Given the description of an element on the screen output the (x, y) to click on. 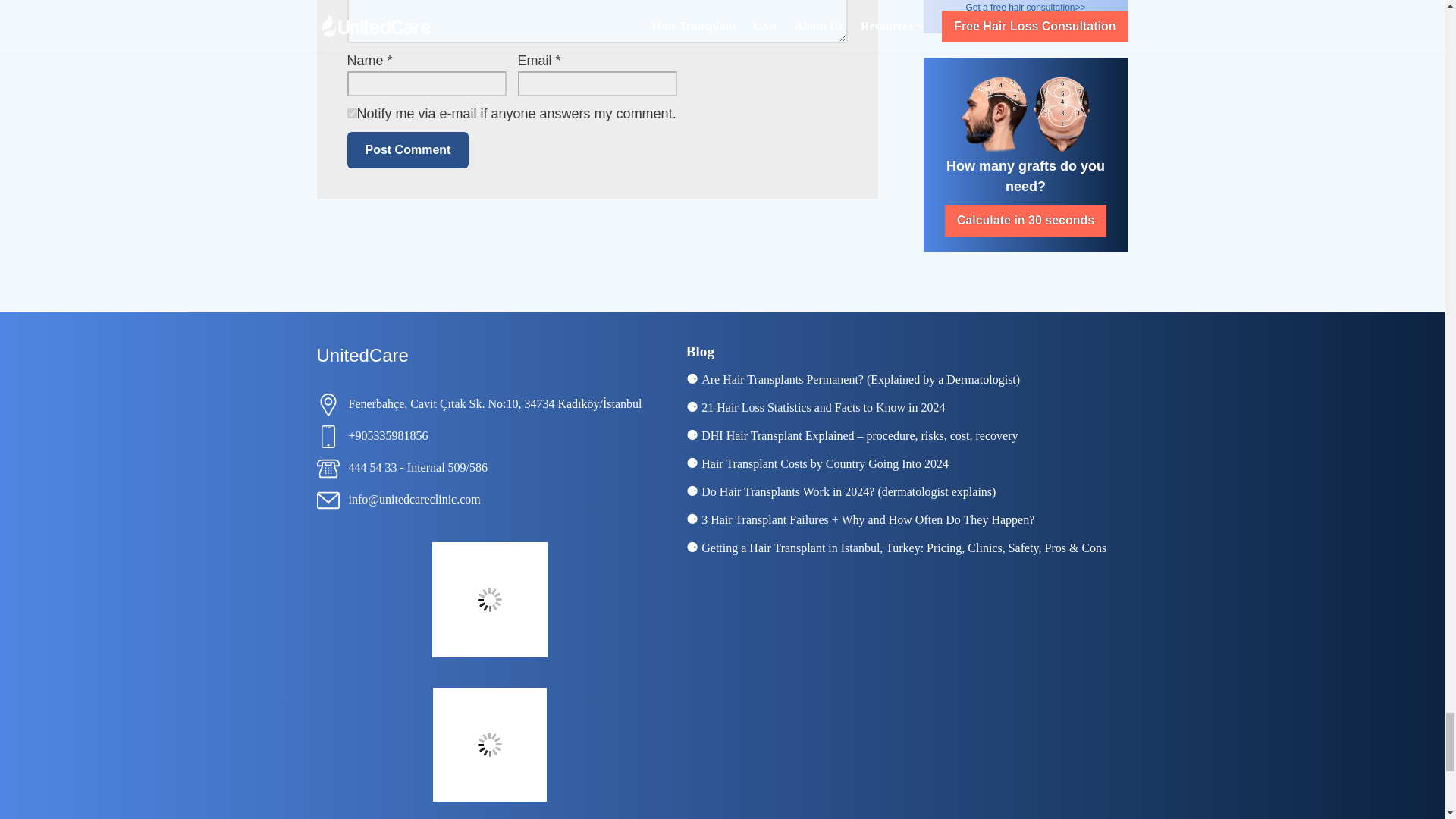
Post Comment (407, 149)
on (351, 112)
